Given the description of an element on the screen output the (x, y) to click on. 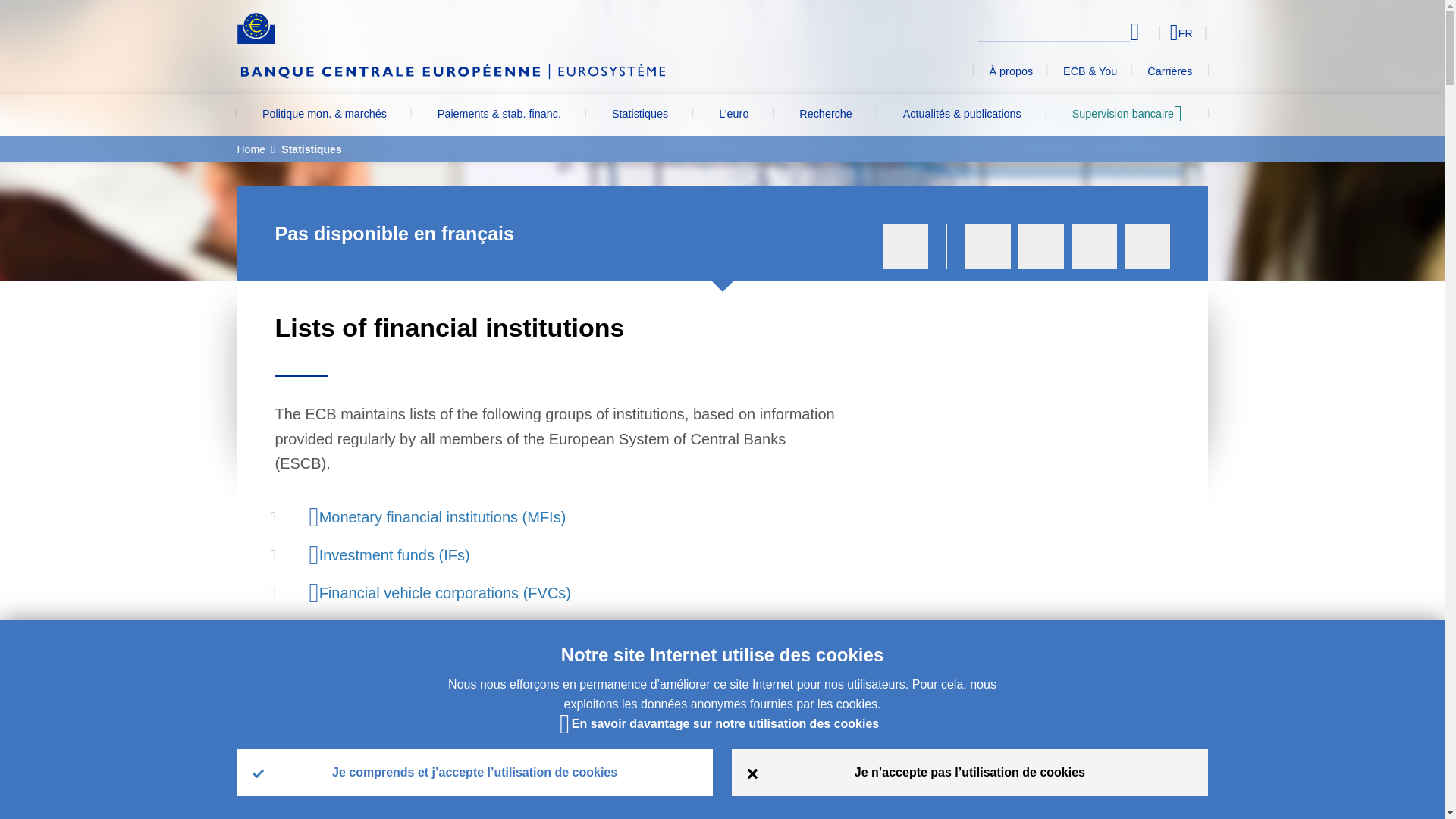
Select language (1153, 32)
